Given the description of an element on the screen output the (x, y) to click on. 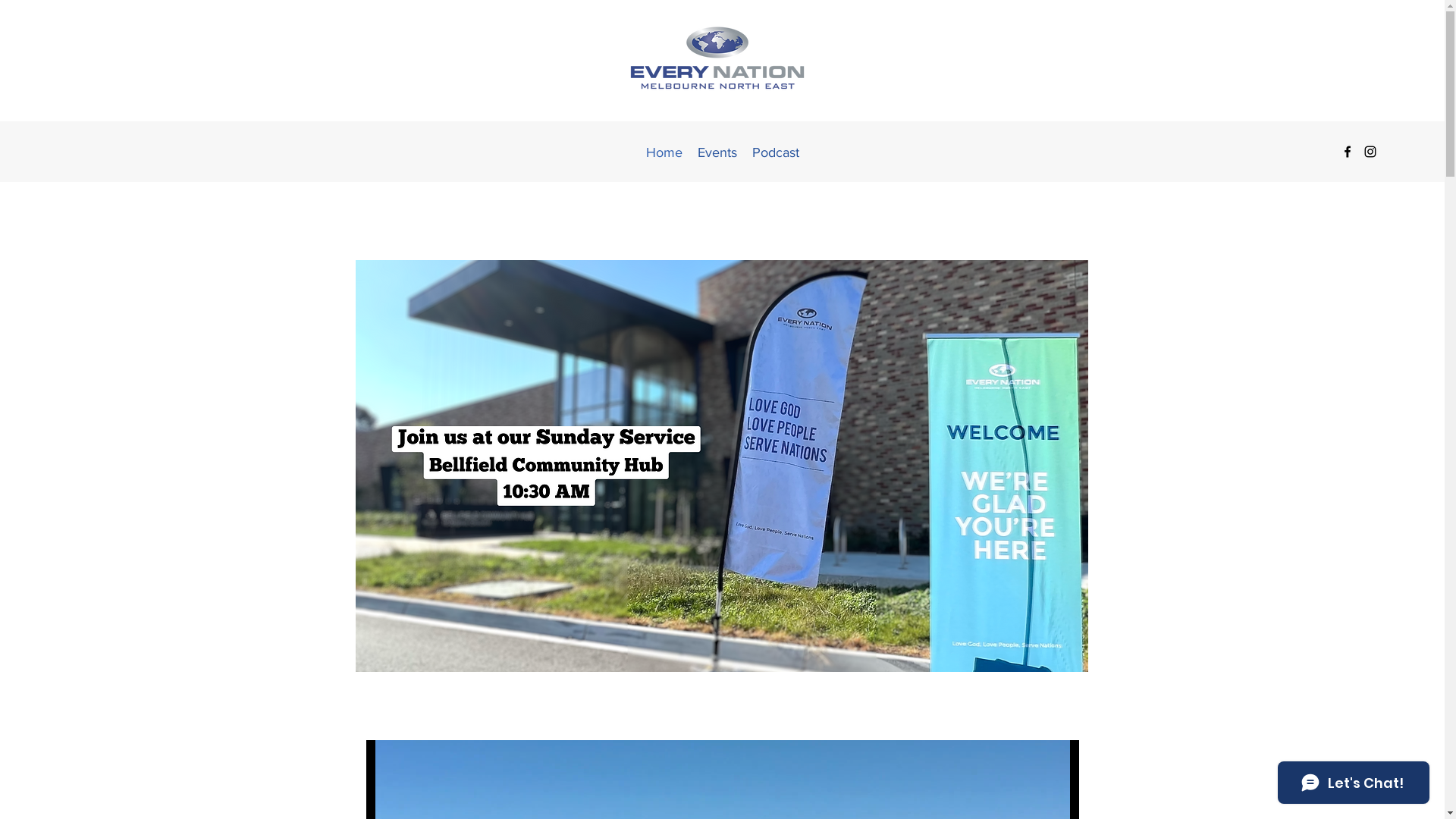
Events Element type: text (717, 151)
Home Element type: text (664, 151)
Podcast Element type: text (775, 151)
